Given the description of an element on the screen output the (x, y) to click on. 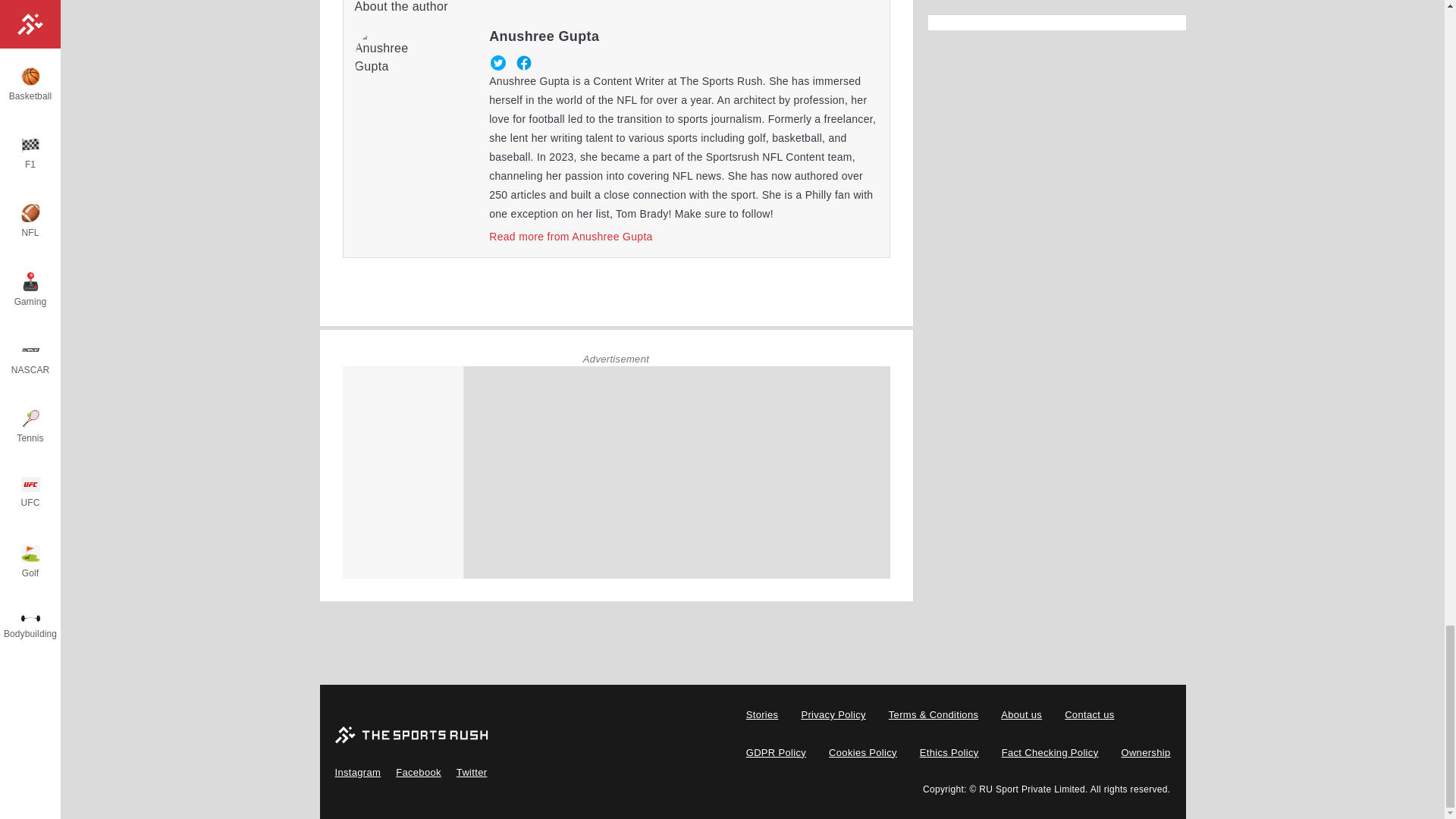
Instagram (357, 772)
Twitter (497, 63)
Facebook (523, 63)
Read more from Anushree Gupta (570, 236)
